Given the description of an element on the screen output the (x, y) to click on. 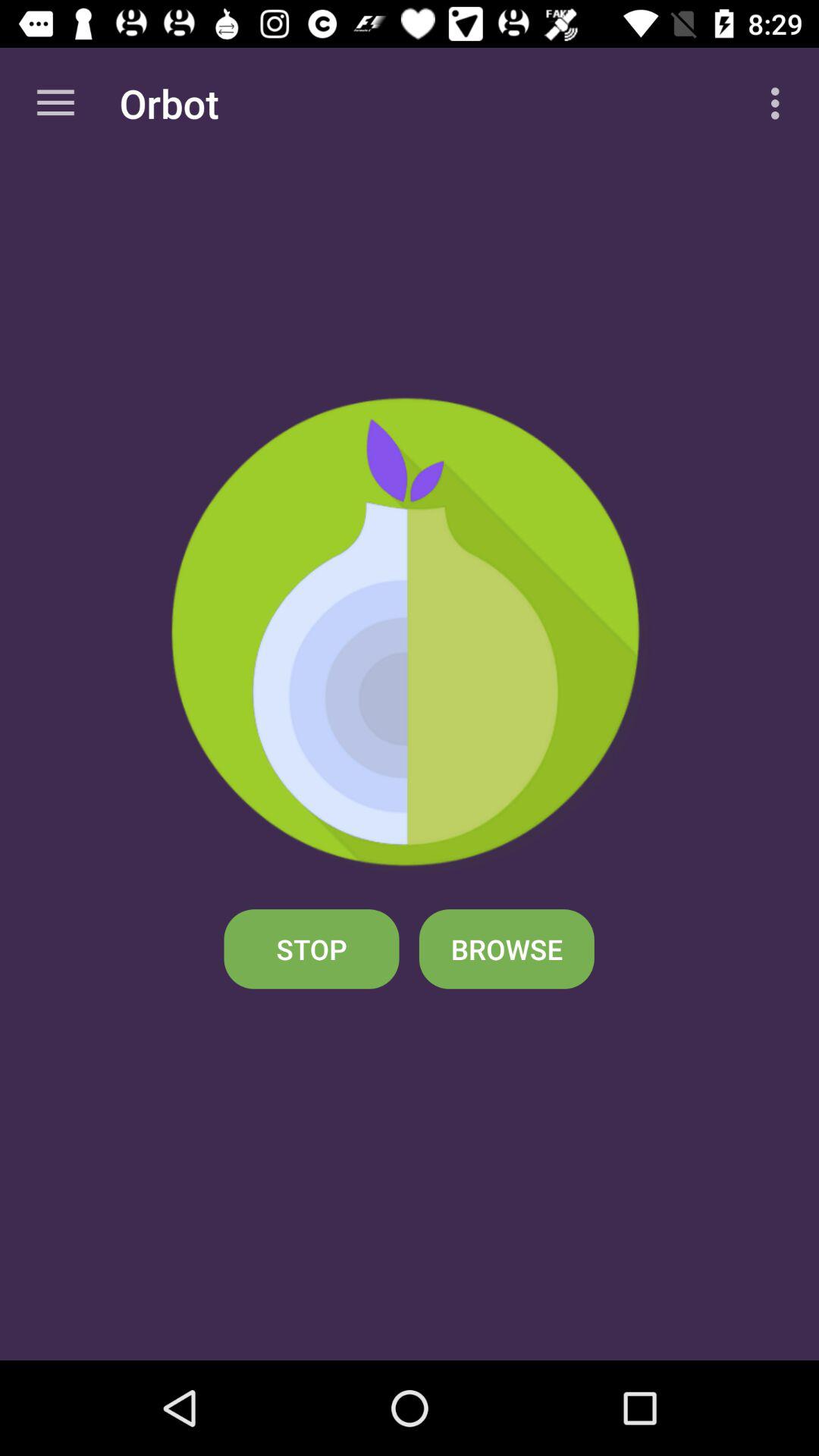
turn off item at the top right corner (779, 103)
